Given the description of an element on the screen output the (x, y) to click on. 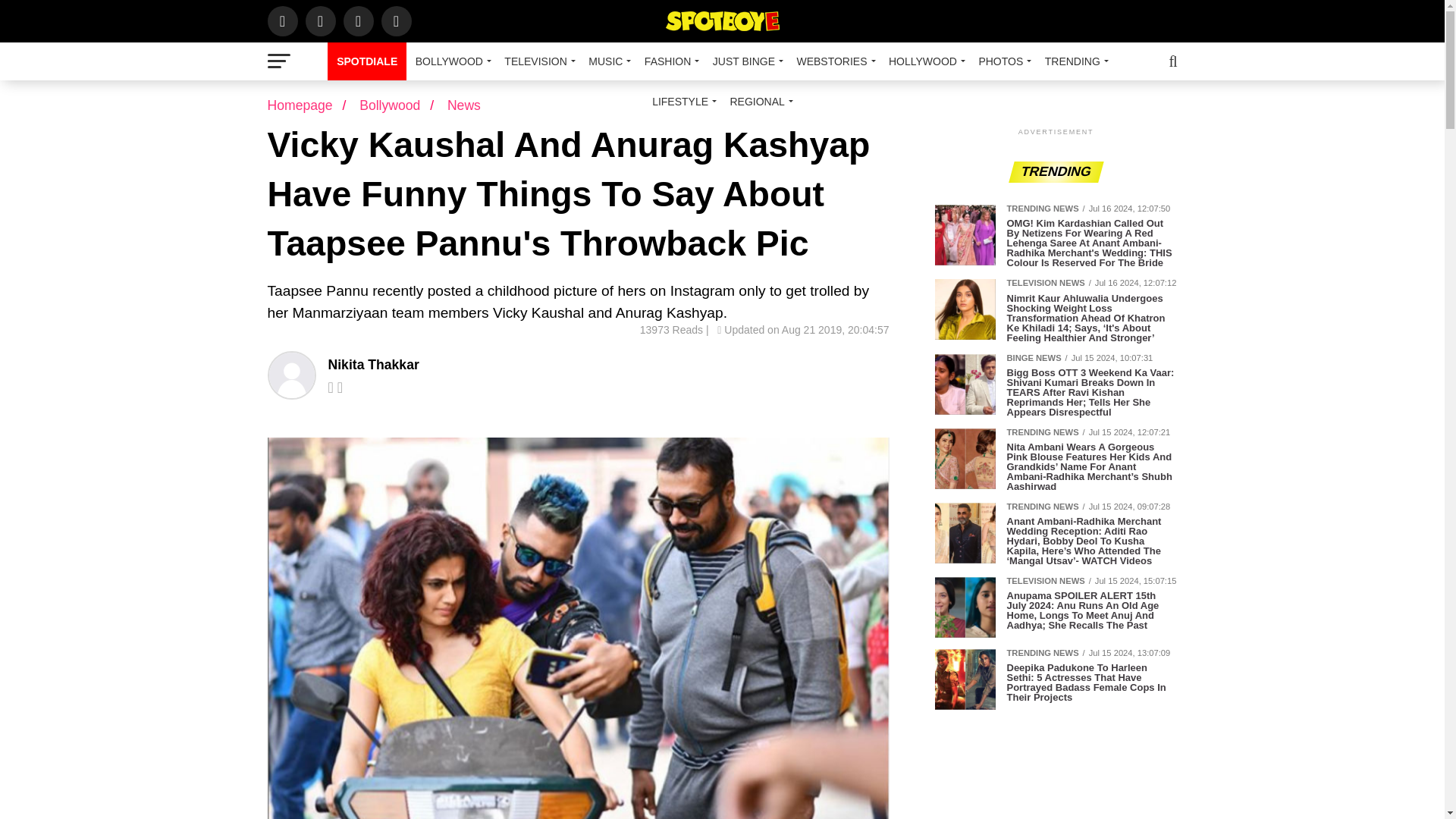
TRENDING (1074, 61)
FASHION (668, 61)
MUSIC (606, 61)
WEBSTORIES (833, 61)
HOLLYWOOD (924, 61)
Posts by  Nikita Thakkar  (373, 364)
JUST BINGE (745, 61)
LIFESTYLE (681, 101)
SPOTDIALE (366, 61)
TELEVISION (537, 61)
PHOTOS (1002, 61)
BOLLYWOOD (451, 61)
REGIONAL (758, 101)
